Given the description of an element on the screen output the (x, y) to click on. 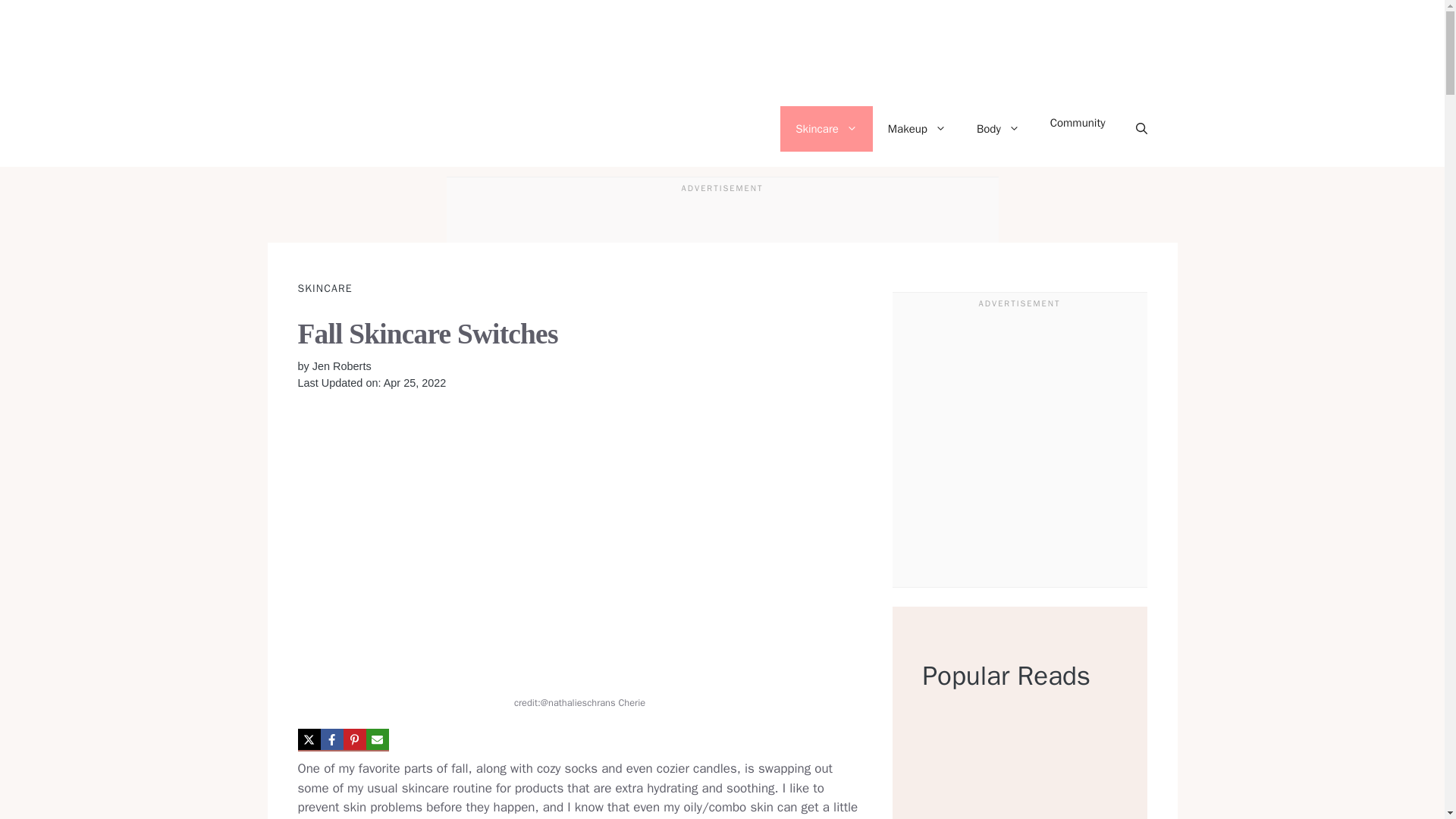
Glowing Gorgeous (433, 128)
Makeup (916, 128)
Skincare (826, 128)
